Given the description of an element on the screen output the (x, y) to click on. 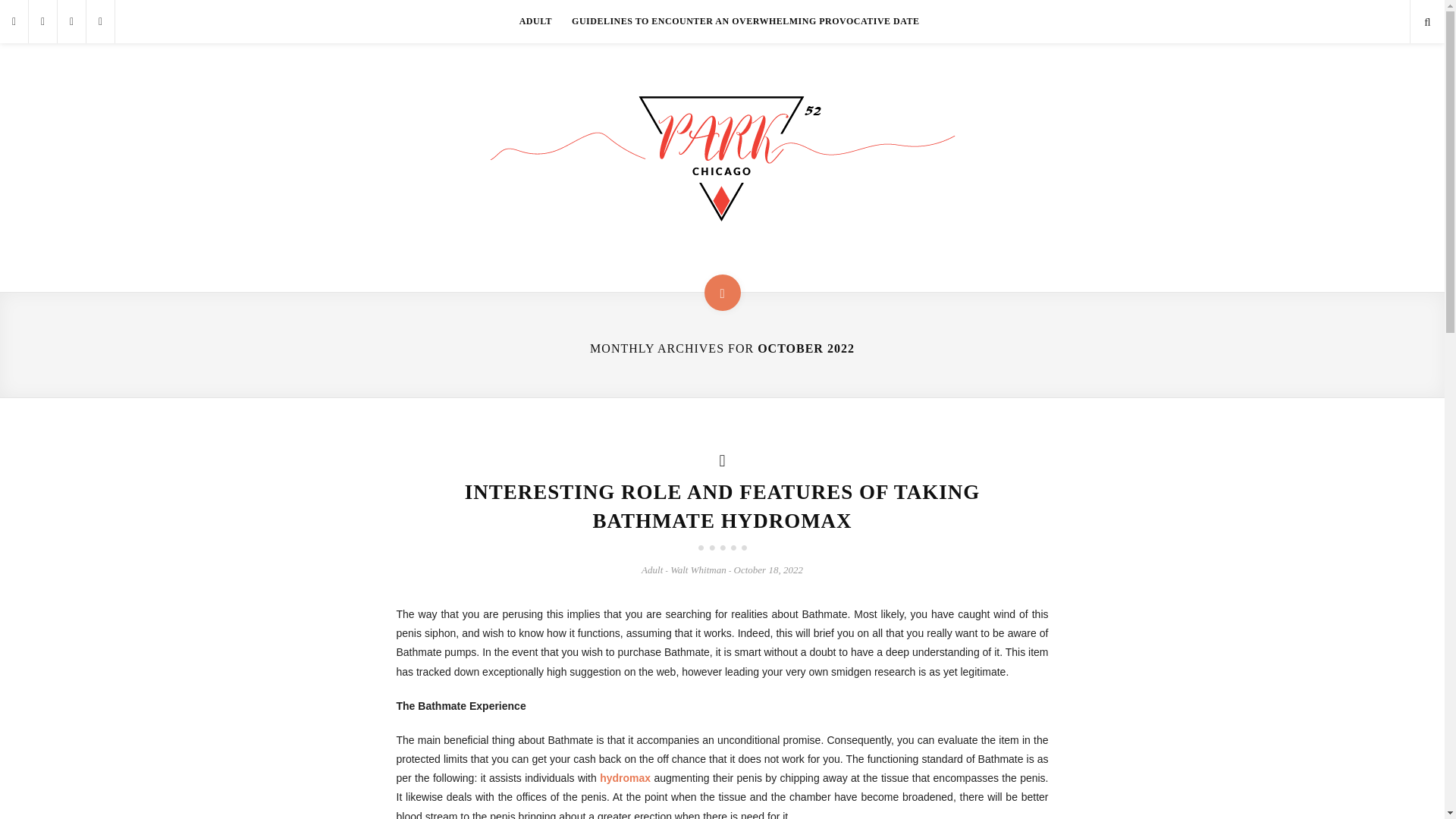
GUIDELINES TO ENCOUNTER AN OVERWHELMING PROVOCATIVE DATE (746, 21)
INTERESTING ROLE AND FEATURES OF TAKING BATHMATE HYDROMAX (721, 506)
Adult (652, 569)
hydromax (624, 777)
ADULT (535, 21)
